Given the description of an element on the screen output the (x, y) to click on. 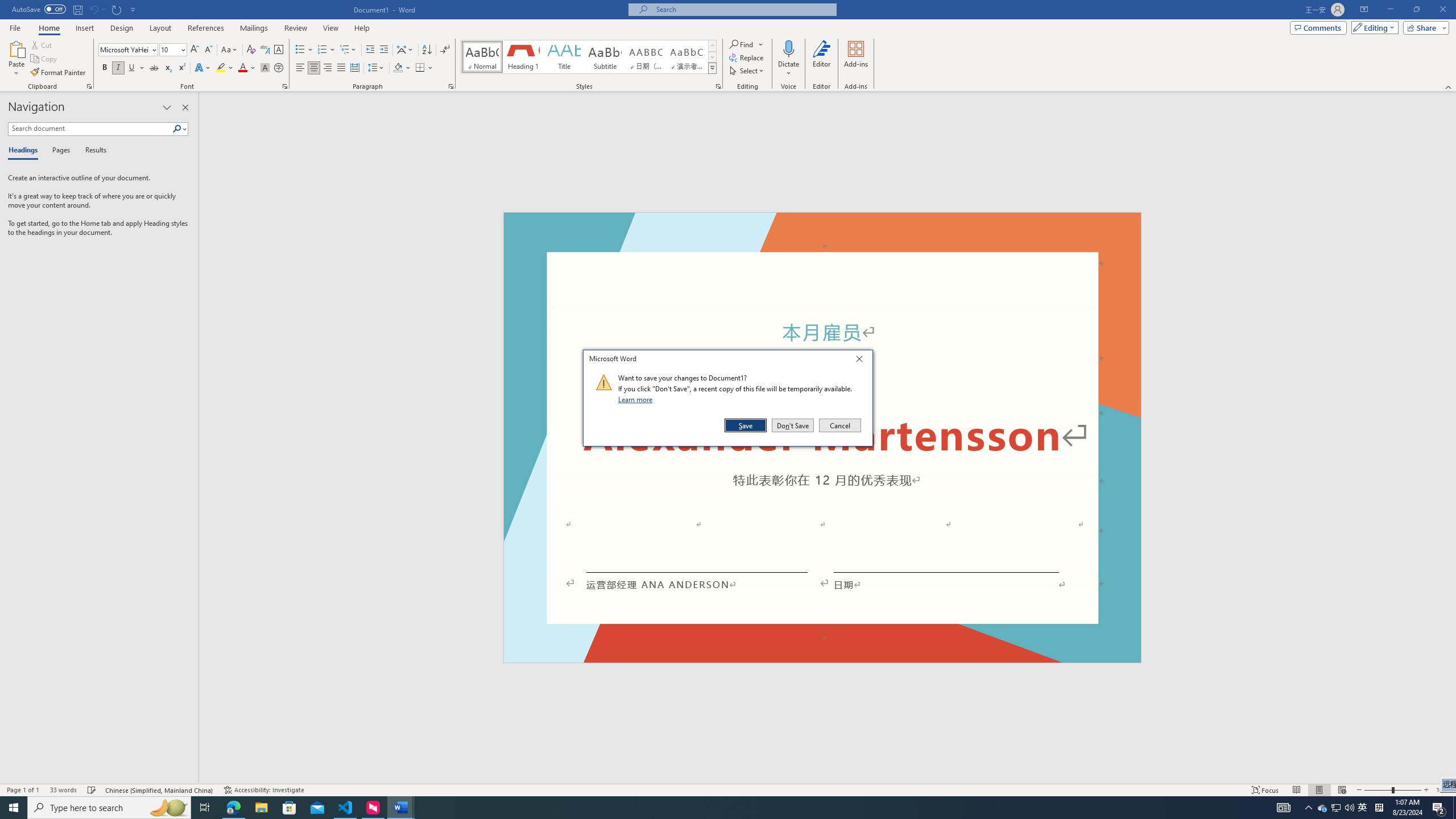
Notification Chevron (1308, 807)
Cancel (839, 425)
Running applications (700, 807)
